Given the description of an element on the screen output the (x, y) to click on. 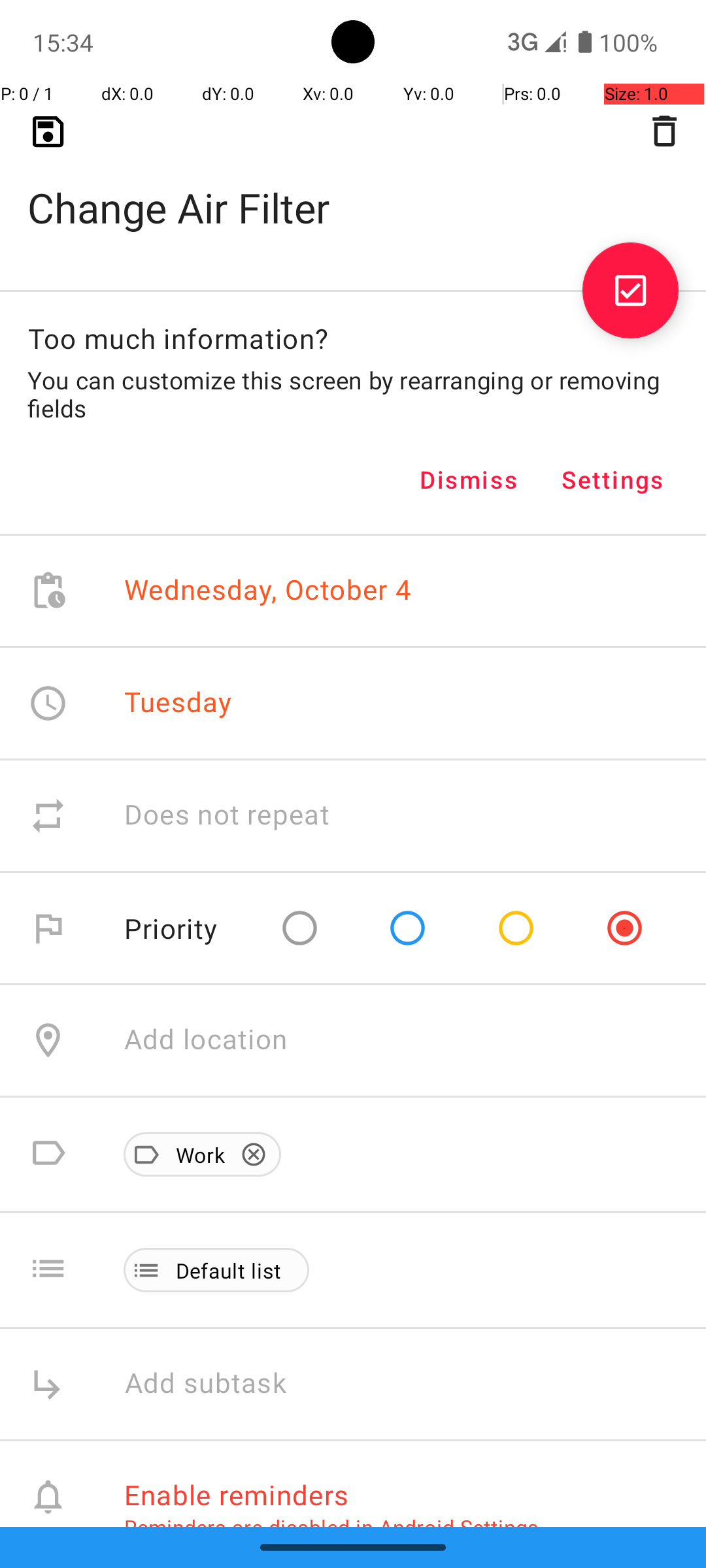
Wednesday, October 4 Element type: android.widget.TextView (267, 590)
